Given the description of an element on the screen output the (x, y) to click on. 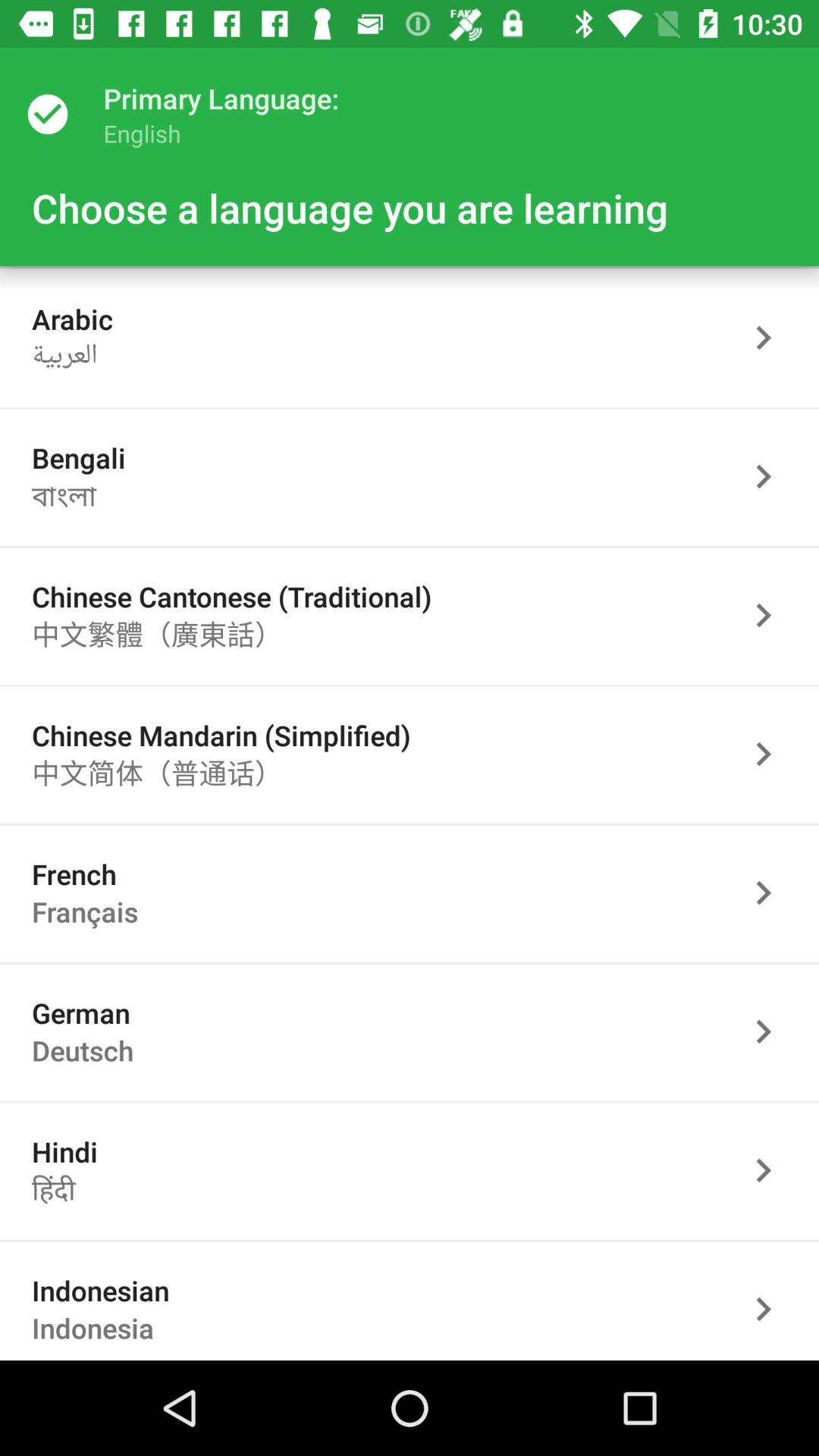
open link (771, 753)
